Given the description of an element on the screen output the (x, y) to click on. 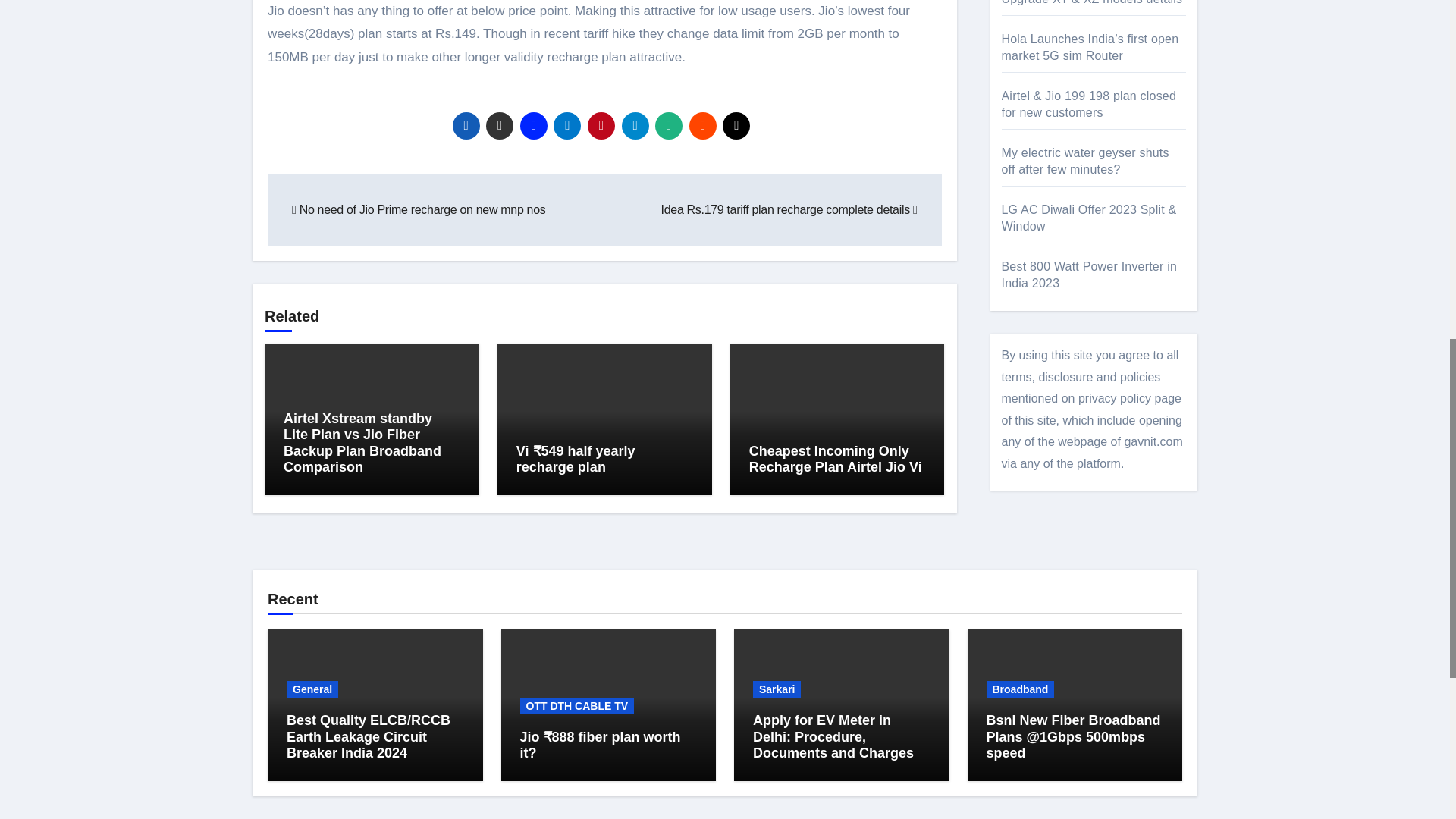
Idea Rs.179 tariff plan recharge complete details (789, 209)
Cheapest Incoming Only Recharge Plan Airtel Jio Vi (835, 459)
No need of Jio Prime recharge on new mnp nos (418, 209)
